Given the description of an element on the screen output the (x, y) to click on. 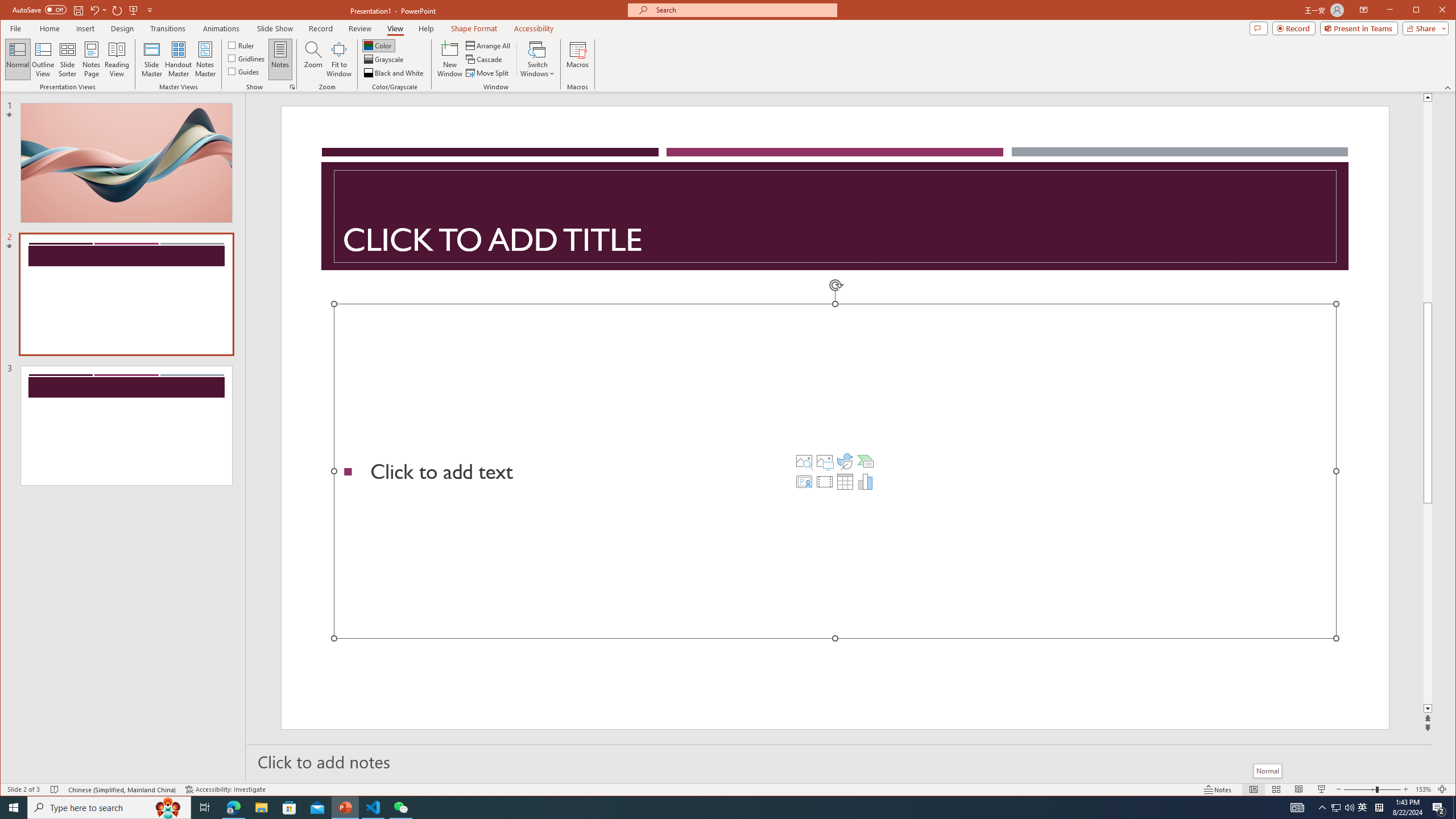
Macros (576, 59)
Handout Master (178, 59)
Outline View (42, 59)
Color (378, 45)
